Given the description of an element on the screen output the (x, y) to click on. 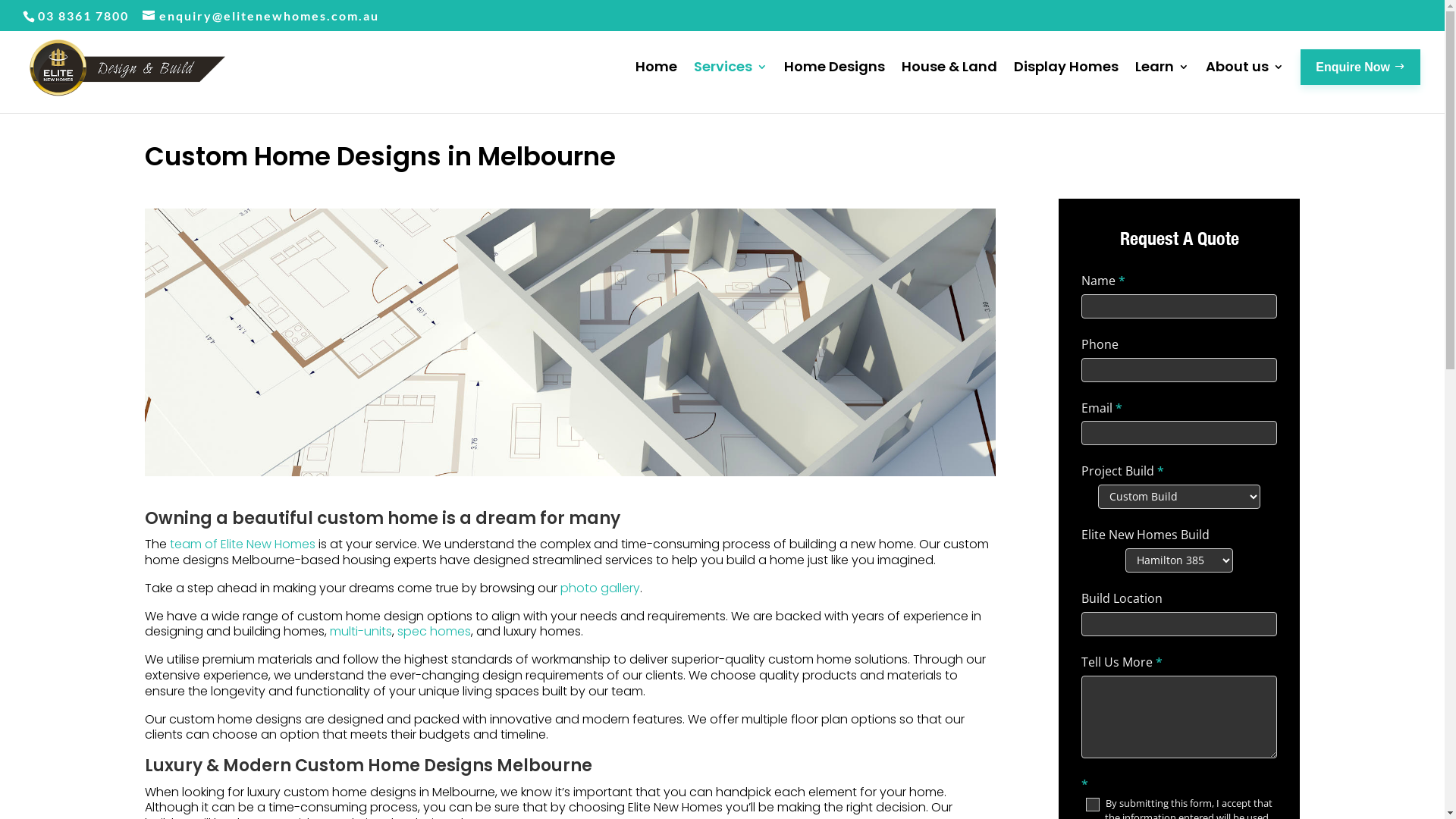
House & Land Element type: text (949, 83)
Custom Home Designs Melbourne Element type: hover (569, 342)
Home Designs Element type: text (834, 83)
Learn Element type: text (1162, 83)
Home Element type: text (656, 83)
enquiry@elitenewhomes.com.au Element type: text (260, 15)
Display Homes Element type: text (1065, 83)
Services Element type: text (730, 83)
Enquire Now Element type: text (1360, 66)
multi-units Element type: text (360, 631)
team of Elite New Homes Element type: text (242, 543)
photo gallery Element type: text (599, 587)
About us Element type: text (1244, 83)
spec homes Element type: text (433, 631)
